Given the description of an element on the screen output the (x, y) to click on. 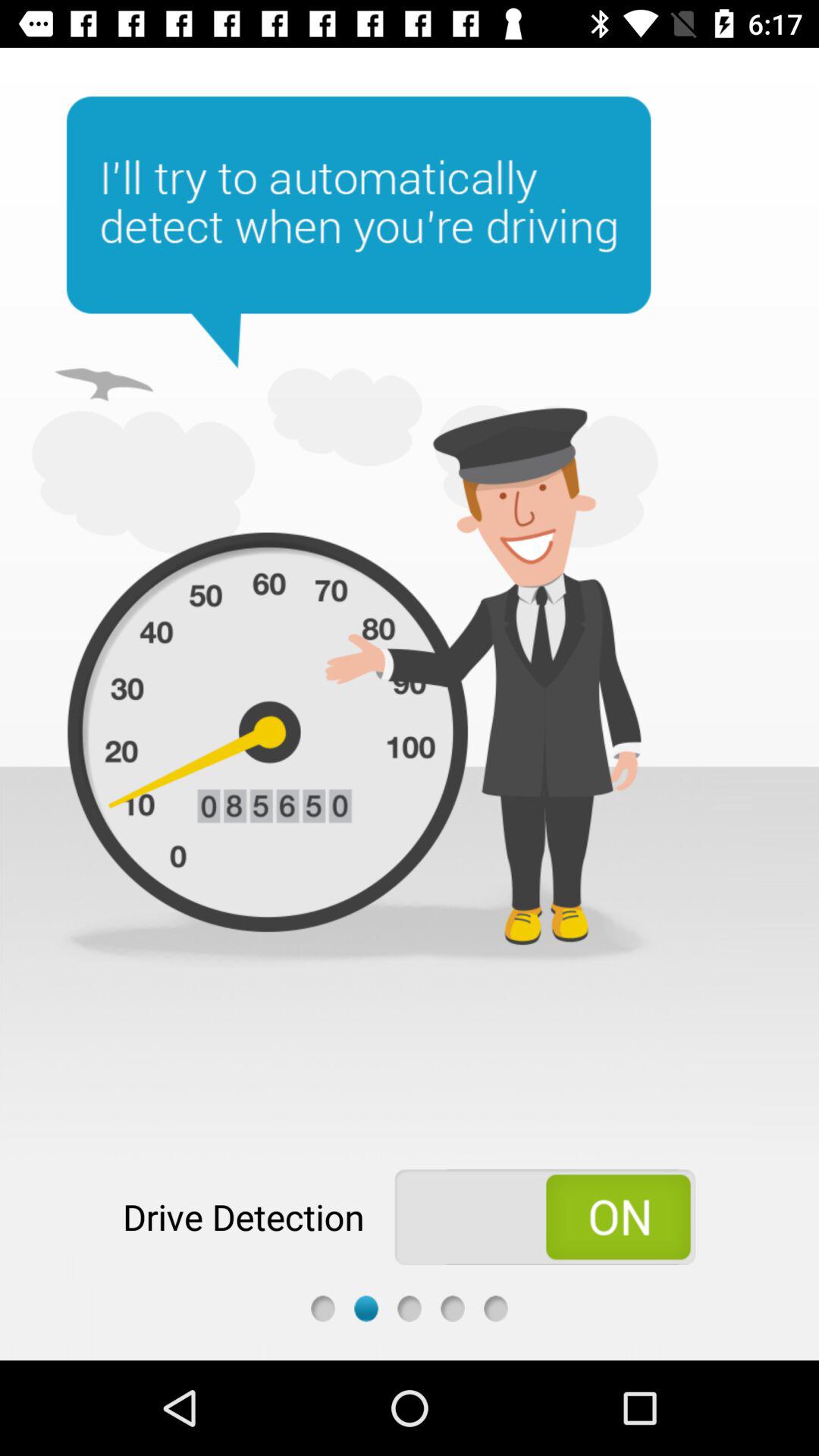
go to page (495, 1308)
